Given the description of an element on the screen output the (x, y) to click on. 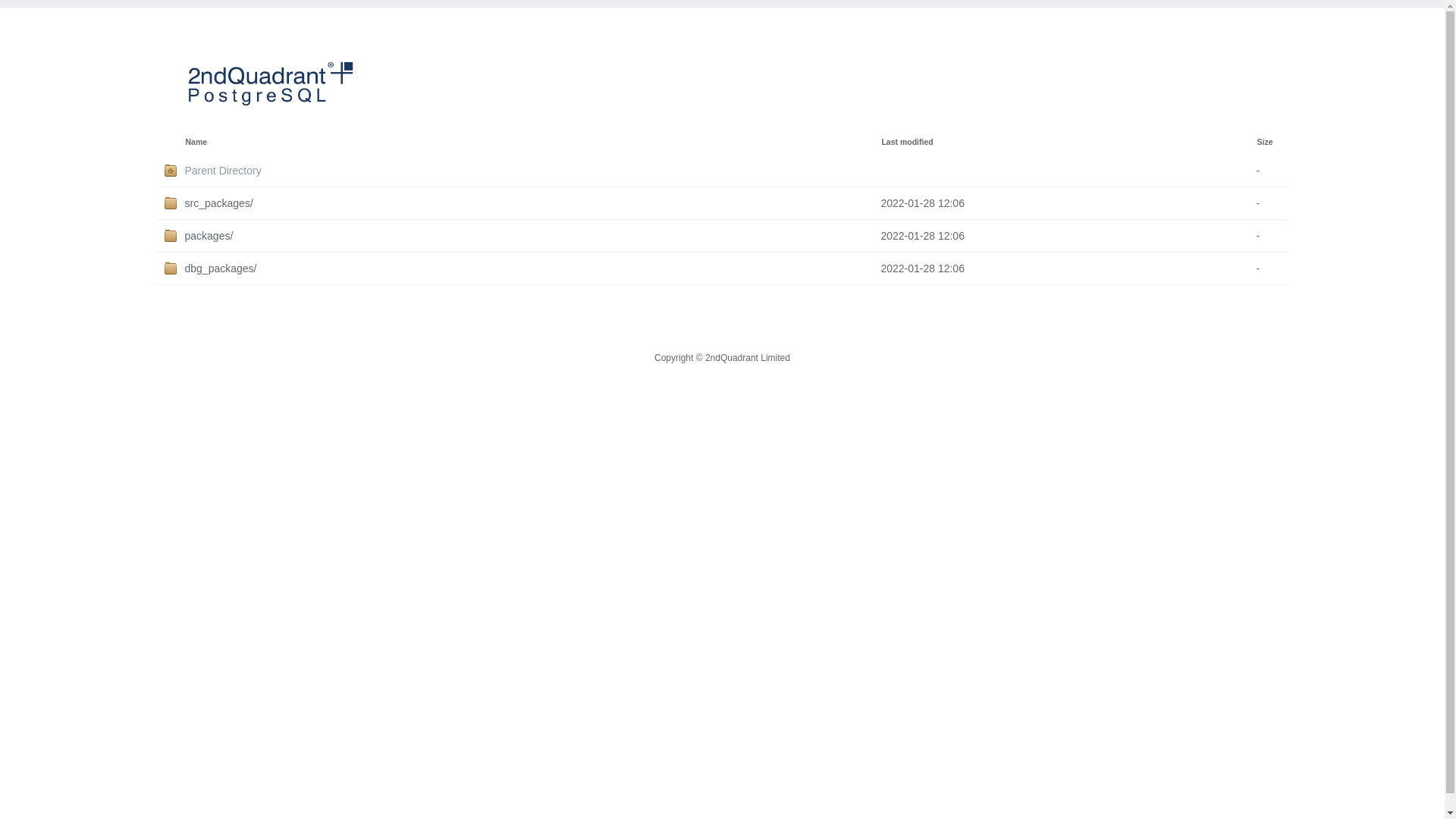
Parent Directory Element type: text (533, 170)
packages/ Element type: text (533, 235)
dbg_packages/ Element type: text (533, 268)
src_packages/ Element type: text (533, 203)
Last modified Element type: text (906, 141)
Name Element type: text (196, 141)
2ndQuadrant Limited Element type: text (747, 357)
Size Element type: text (1264, 141)
